Given the description of an element on the screen output the (x, y) to click on. 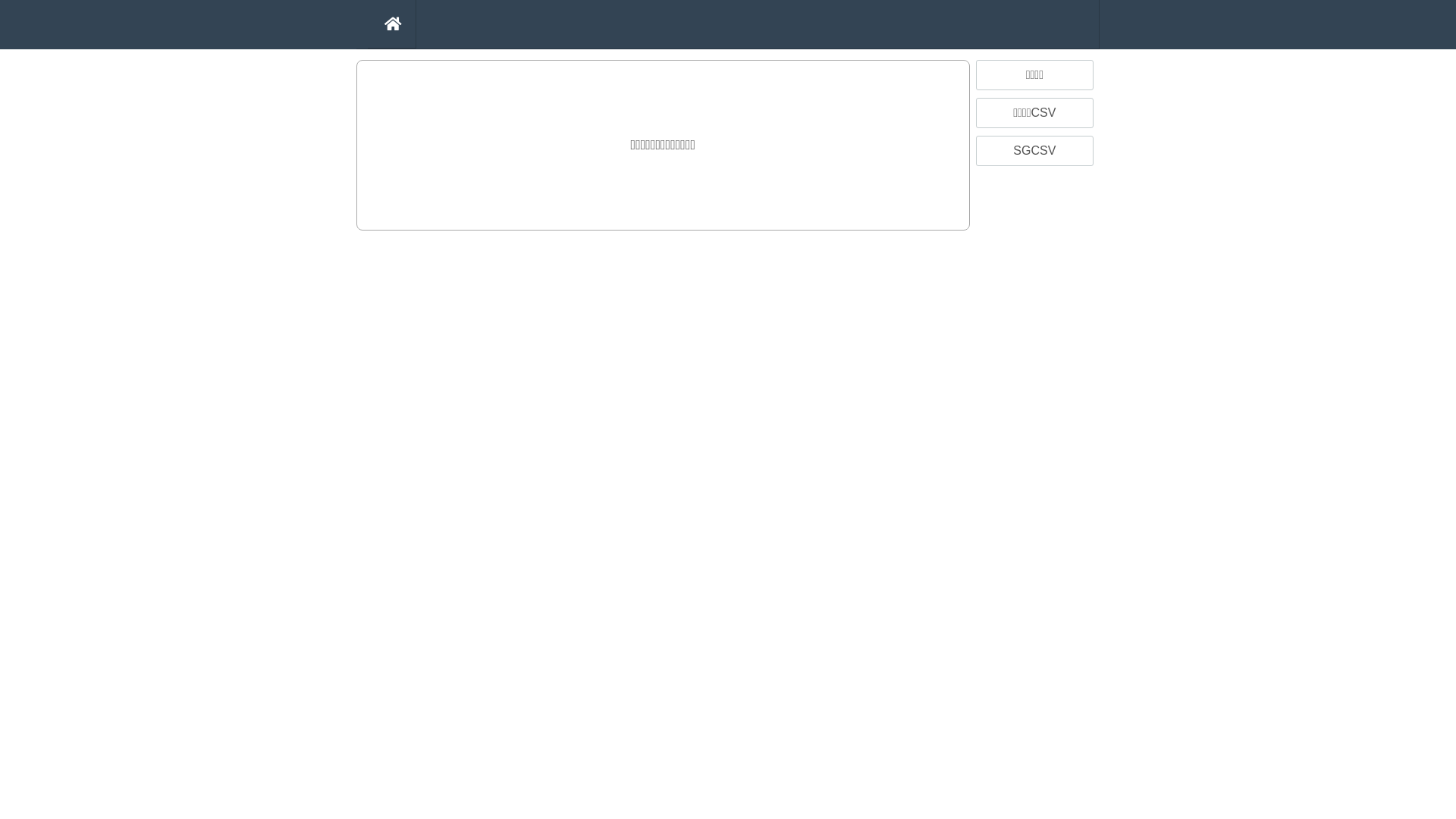
SGCSV Element type: text (1034, 150)
